Given the description of an element on the screen output the (x, y) to click on. 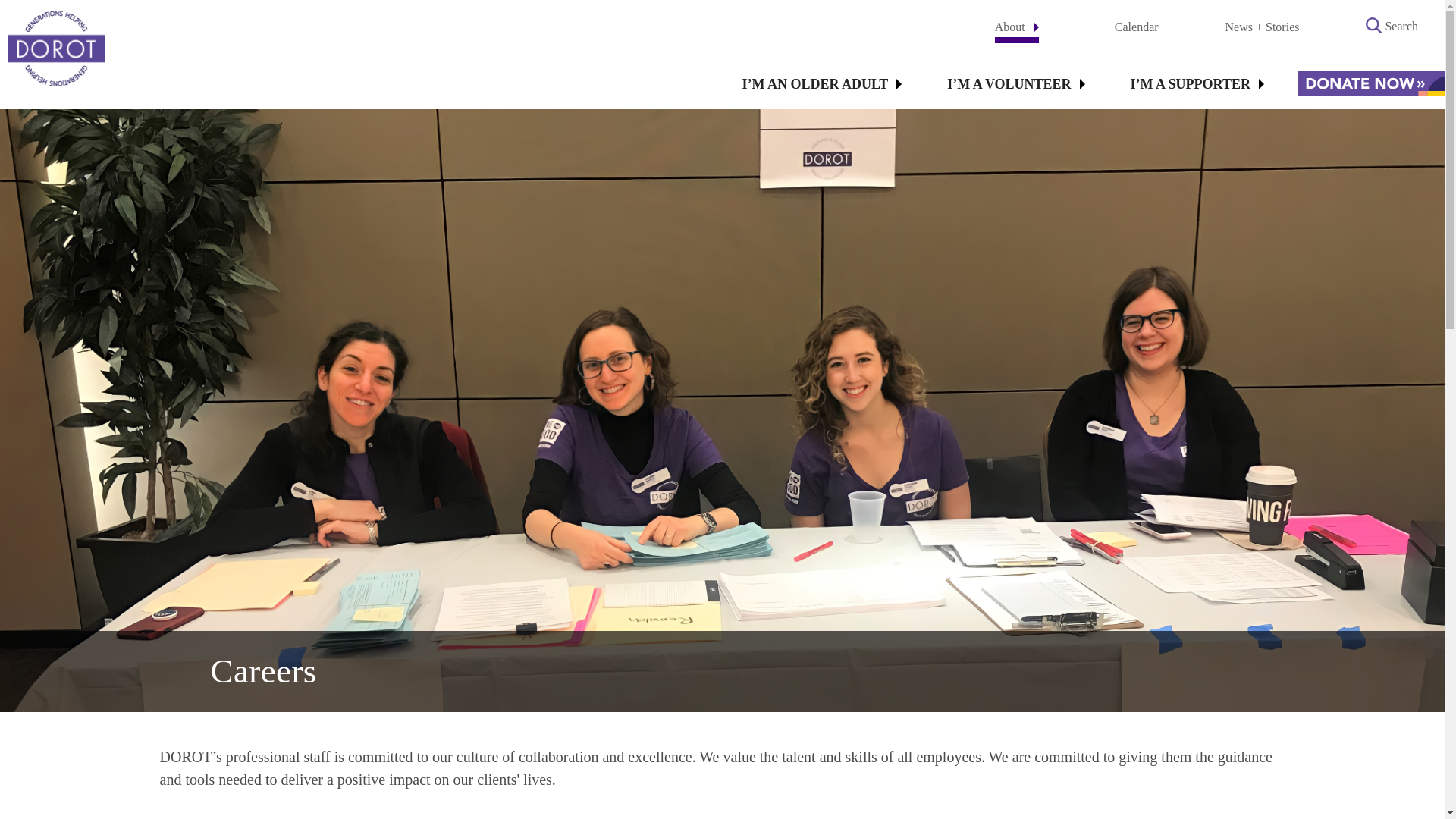
Search (1401, 27)
Calendar (1143, 26)
Skip to main content (721, 1)
Home (55, 49)
About (1016, 30)
